Given the description of an element on the screen output the (x, y) to click on. 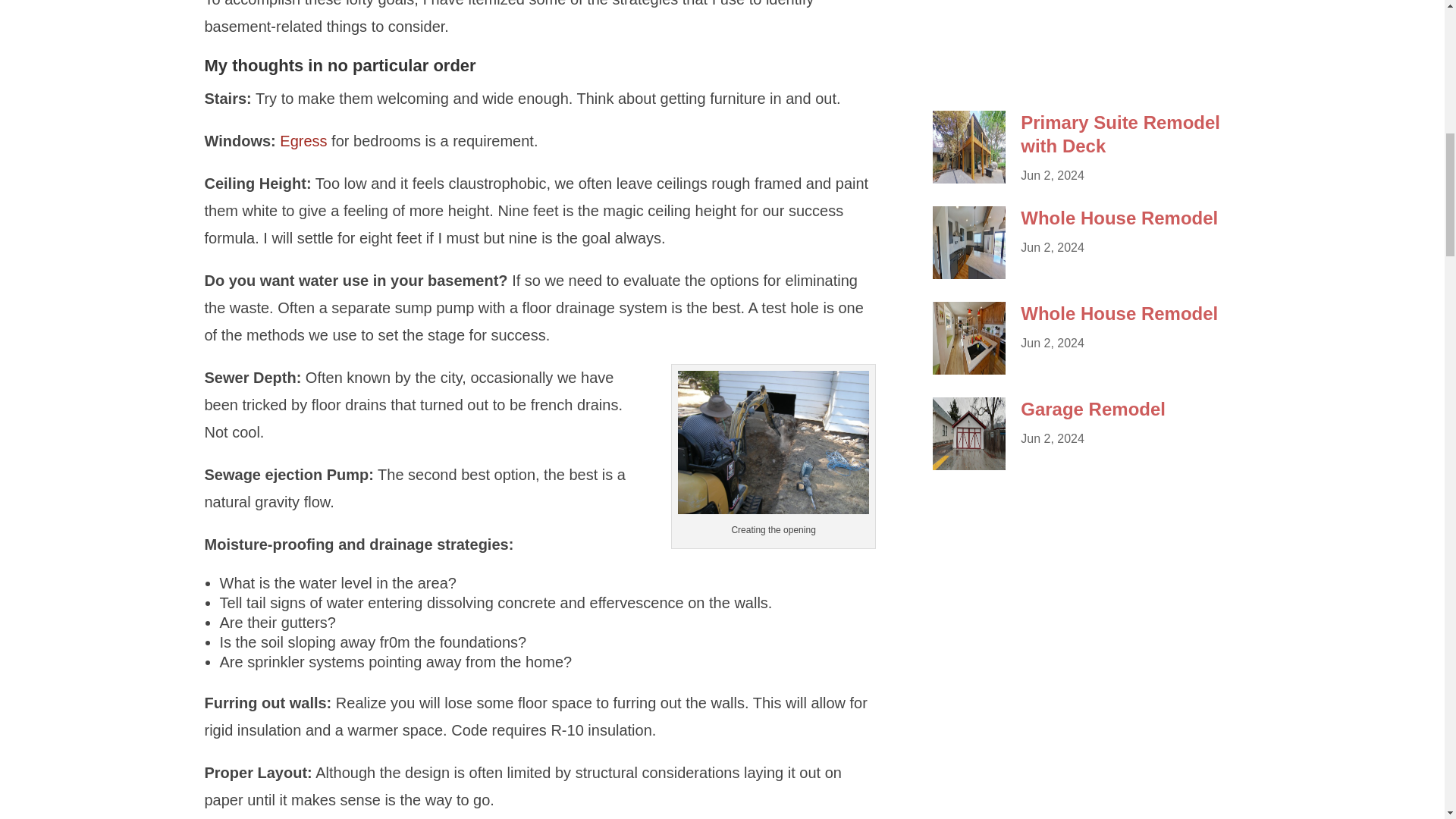
Egress Windows (302, 139)
